Given the description of an element on the screen output the (x, y) to click on. 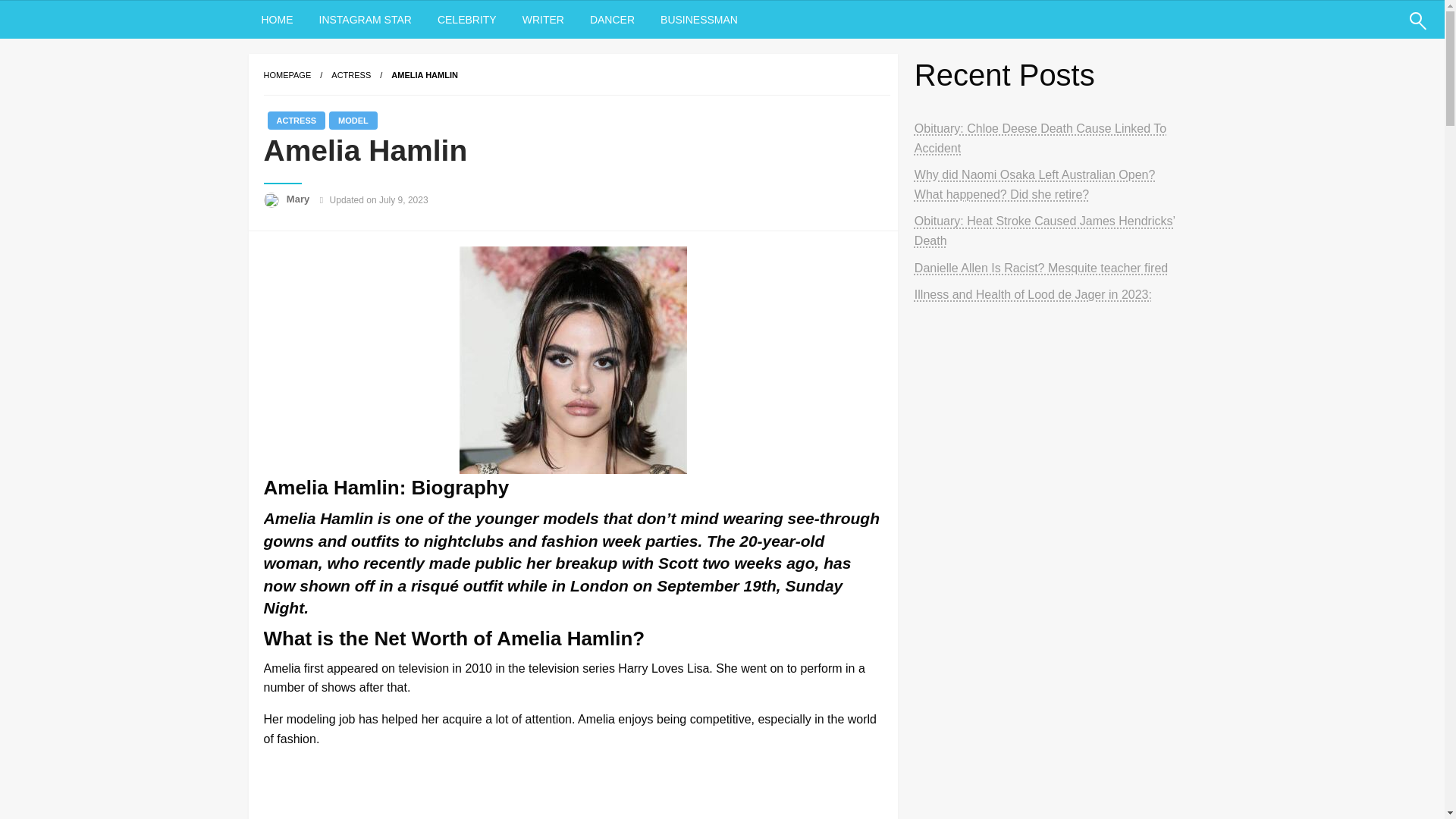
ACTRESS (351, 74)
Mary (299, 198)
Homepage (287, 74)
INSTAGRAM STAR (365, 19)
MODEL (353, 120)
Search (1381, 30)
HOME (276, 19)
Amelia Hamlin (424, 74)
Mary (299, 198)
Actress (351, 74)
